Given the description of an element on the screen output the (x, y) to click on. 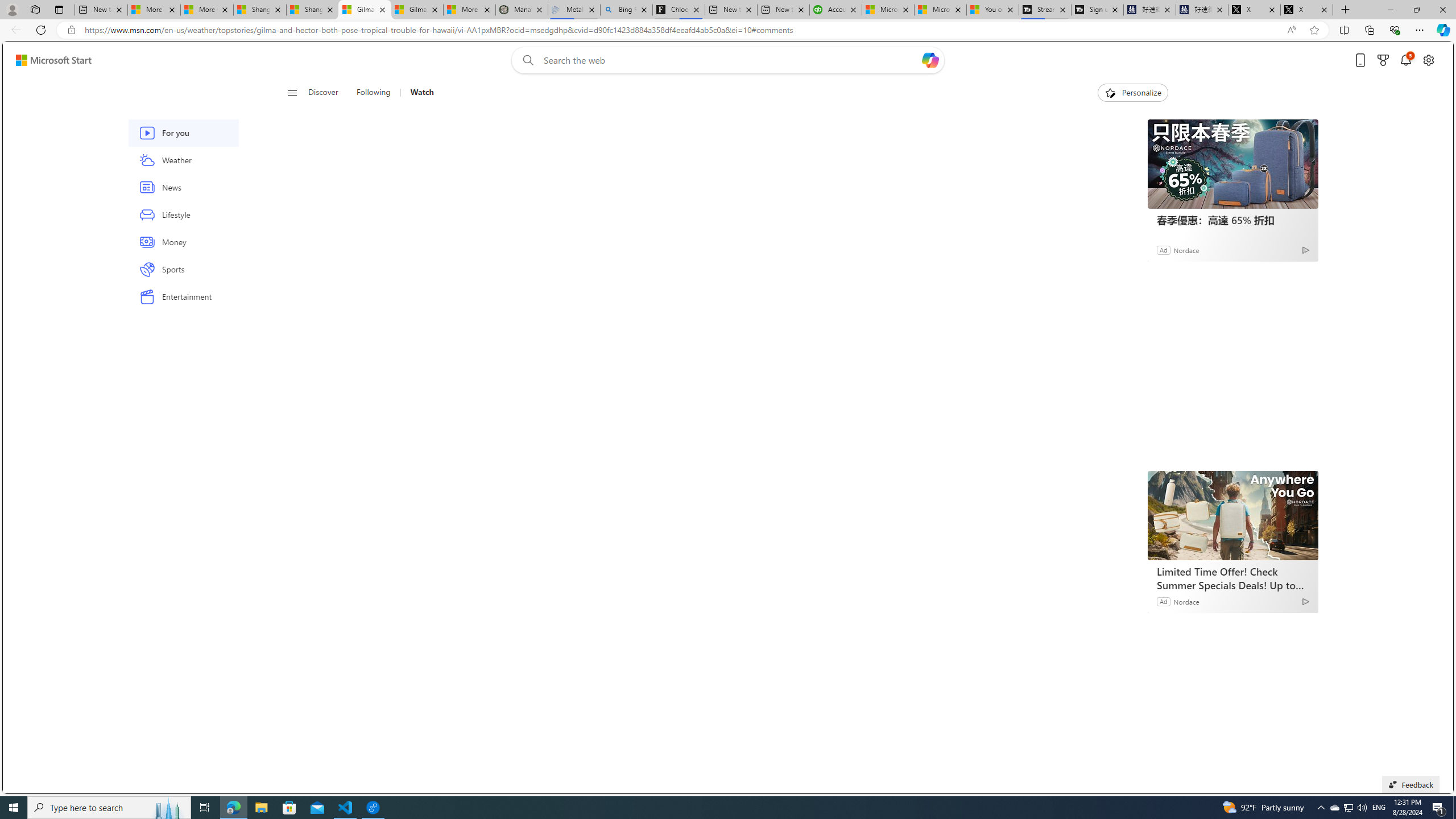
Accounting Software for Accountants, CPAs and Bookkeepers (835, 9)
Limited Time Offer! Check Summer Specials Deals! Up to -55%! (1232, 515)
Enter your search term (730, 59)
To get missing image descriptions, open the context menu. (1109, 92)
Watch (416, 92)
Microsoft Start Sports (887, 9)
Gilma and Hector both pose tropical trouble for Hawaii (416, 9)
